Given the description of an element on the screen output the (x, y) to click on. 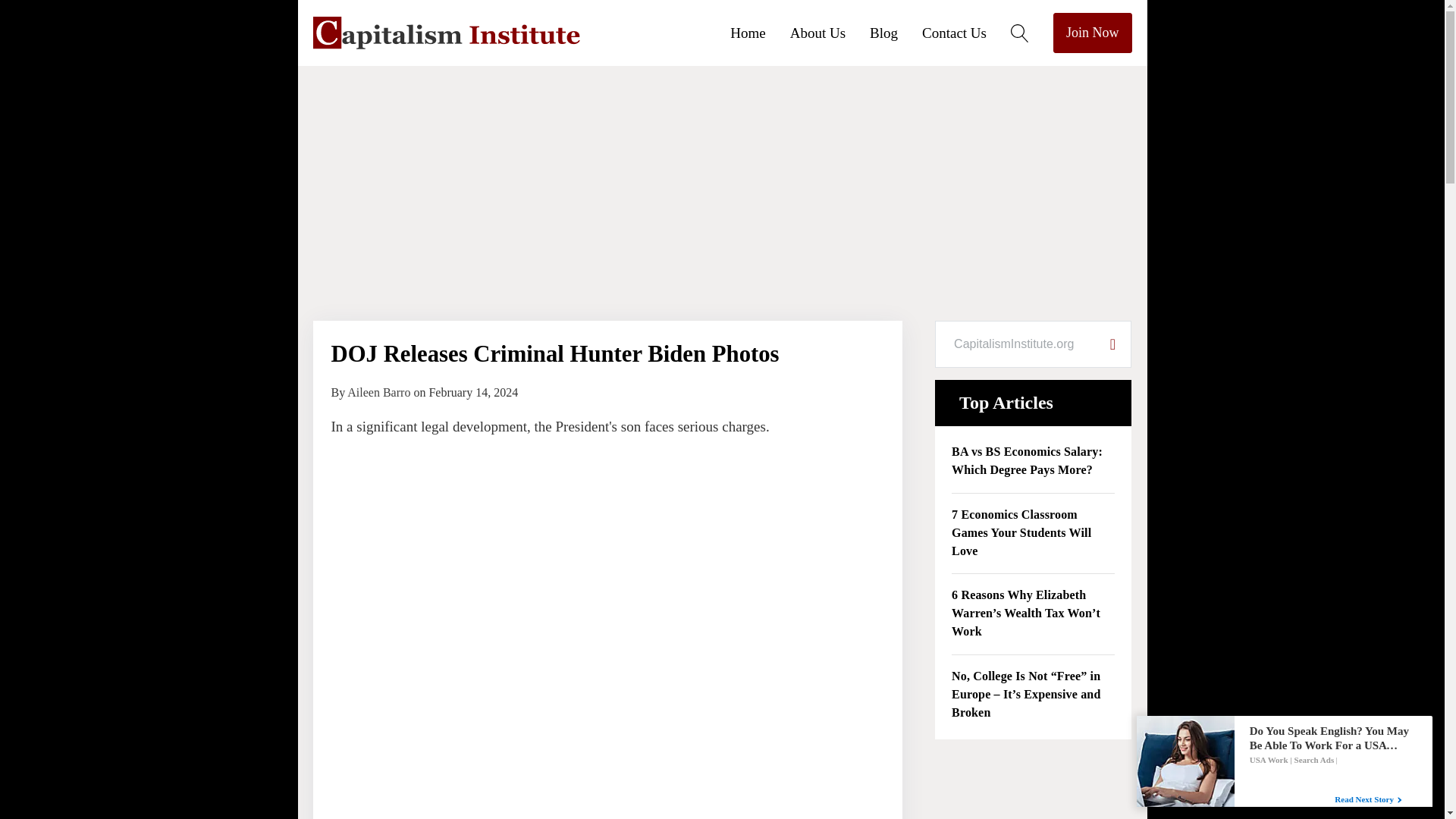
Aileen Barro (378, 391)
7 Economics Classroom Games Your Students Will Love (1033, 533)
BA vs BS Economics Salary: Which Degree Pays More? (1033, 461)
About Us (829, 32)
Contact Us (965, 32)
Join Now (1092, 33)
Home (759, 32)
Blog (895, 32)
